Given the description of an element on the screen output the (x, y) to click on. 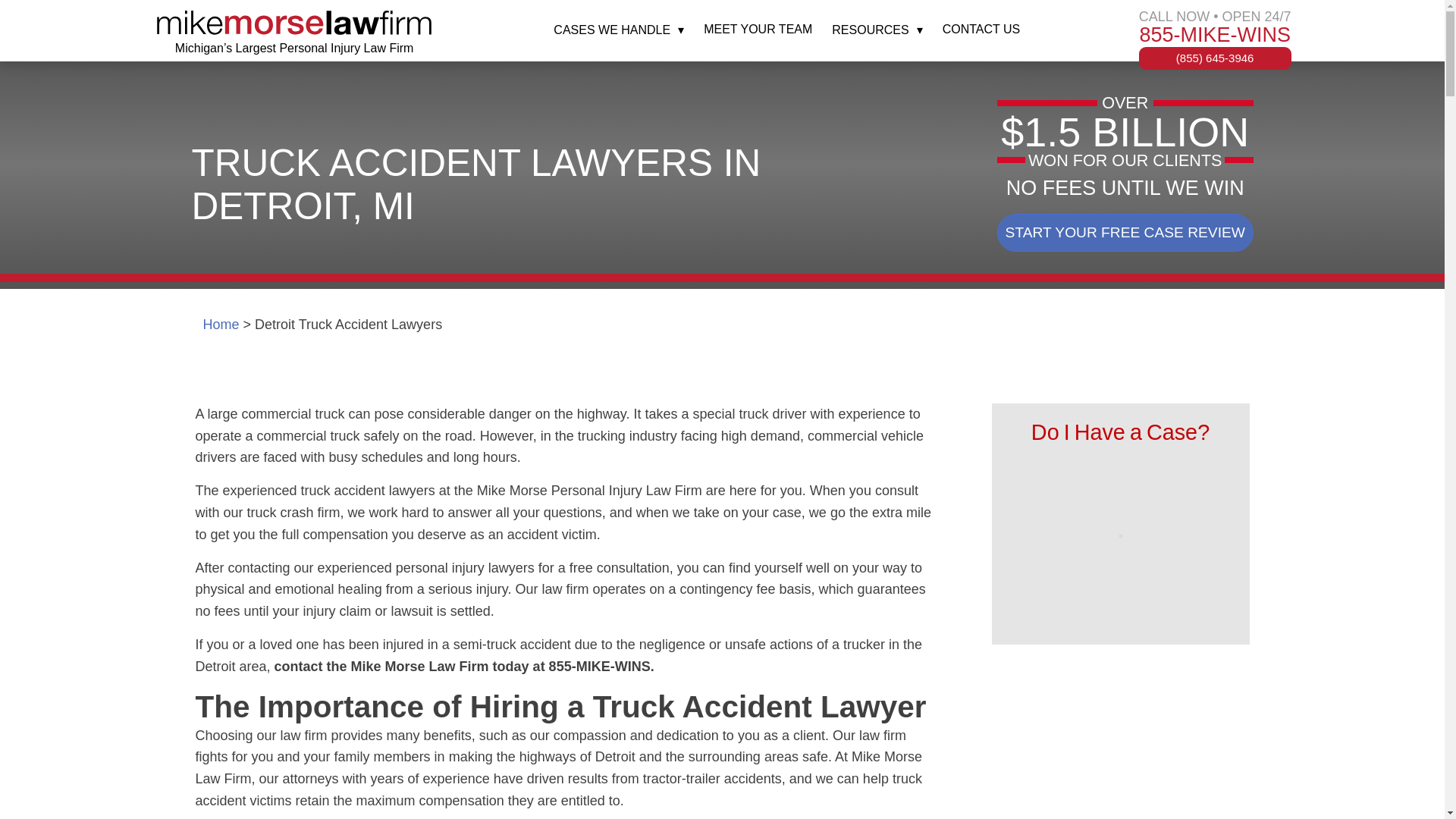
CASES WE HANDLE (618, 29)
